Given the description of an element on the screen output the (x, y) to click on. 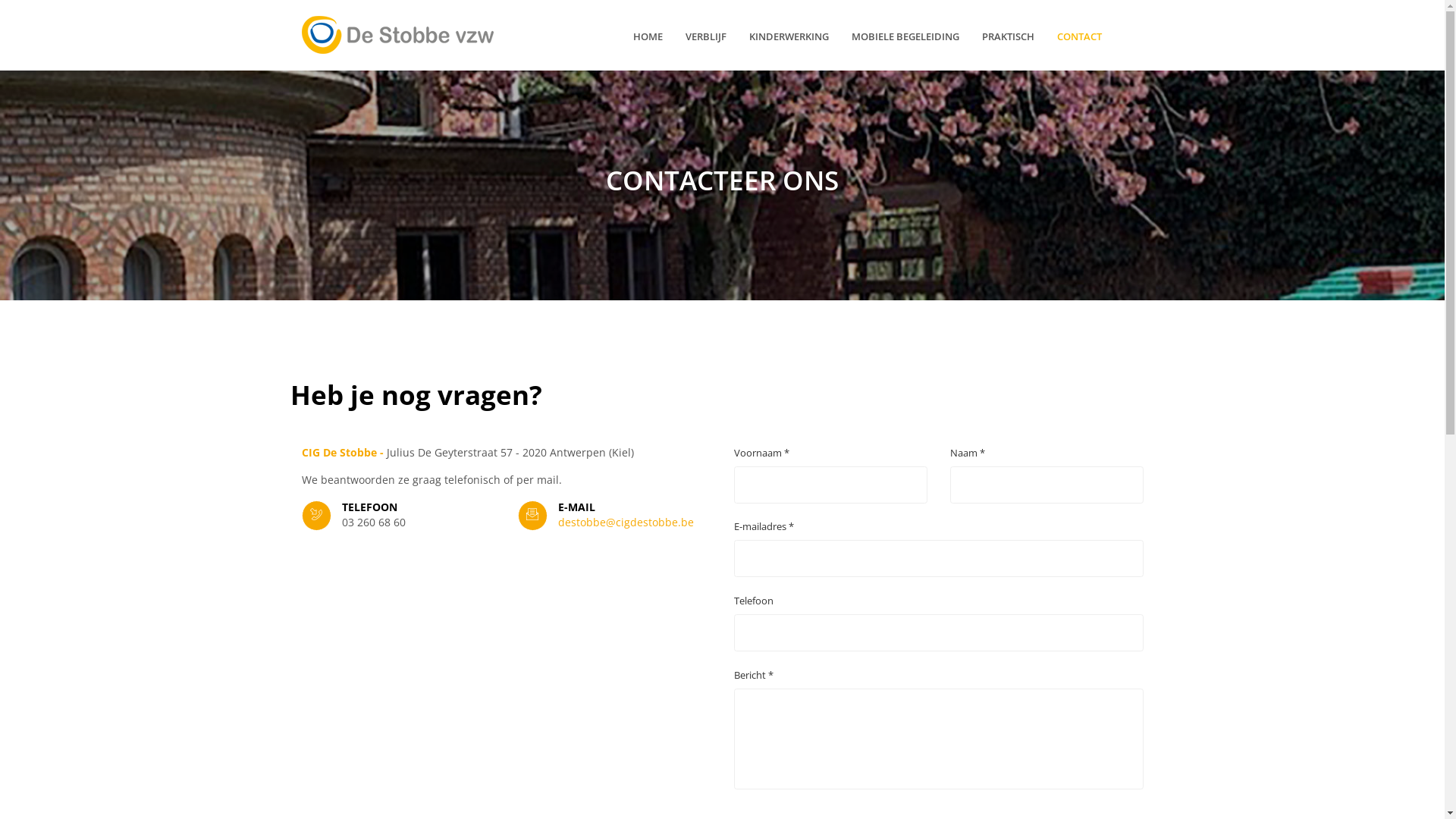
PRAKTISCH Element type: text (1008, 36)
CIG De Stobbe Element type: hover (397, 34)
HOME Element type: text (647, 36)
VERBLIJF Element type: text (705, 36)
MOBIELE BEGELEIDING Element type: text (905, 36)
CONTACT Element type: text (1079, 36)
KINDERWERKING Element type: text (788, 36)
destobbe@cigdestobbe.be Element type: text (625, 521)
